Given the description of an element on the screen output the (x, y) to click on. 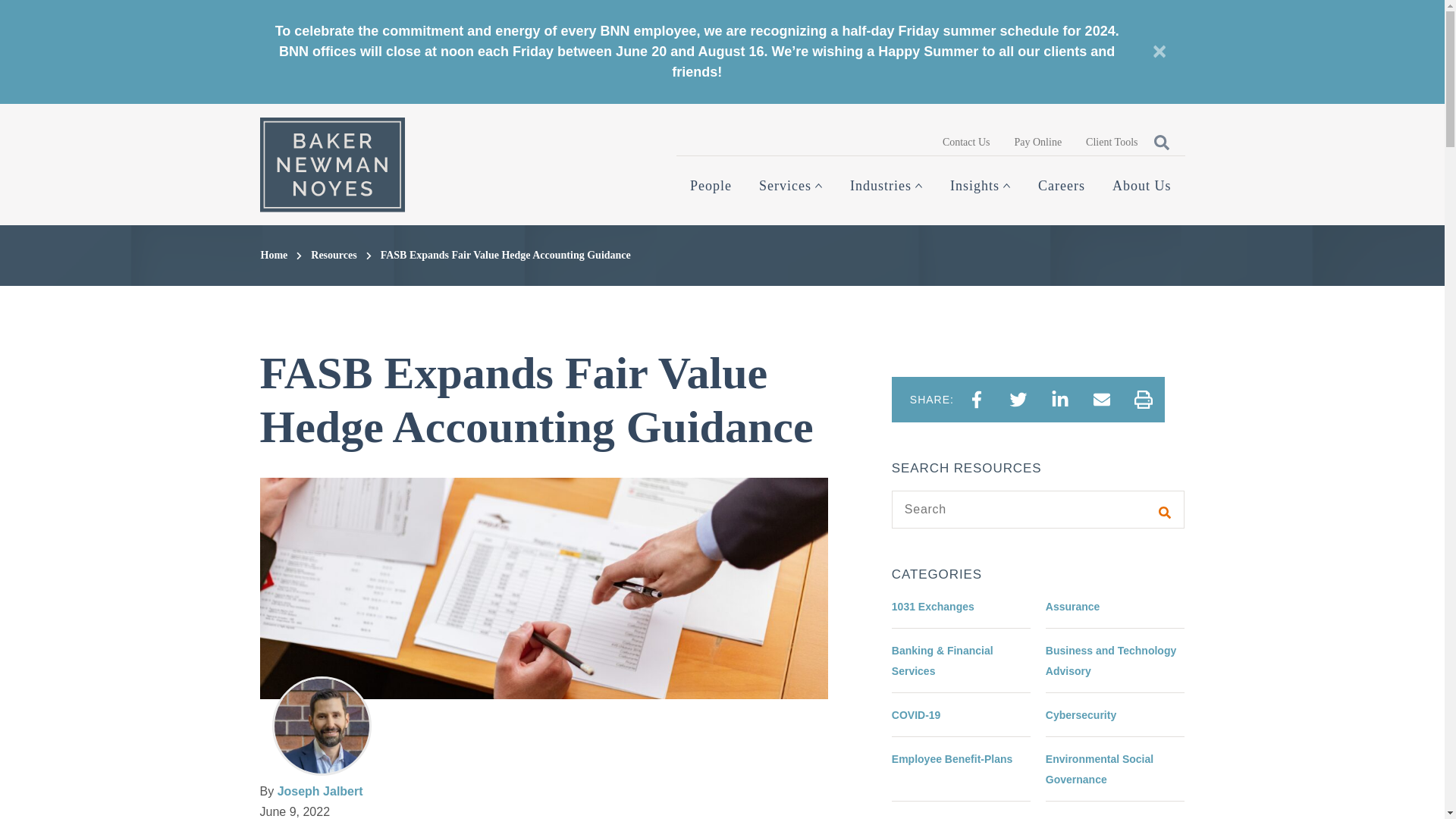
Insights (980, 185)
People (710, 185)
Joseph Jalbert (320, 790)
Services (790, 185)
OPEN SEARCH (1161, 141)
Pay Online (1038, 141)
Contact Us (966, 141)
Baker Newman Noyes (331, 164)
Industries (886, 185)
Client Tools (1112, 141)
